Given the description of an element on the screen output the (x, y) to click on. 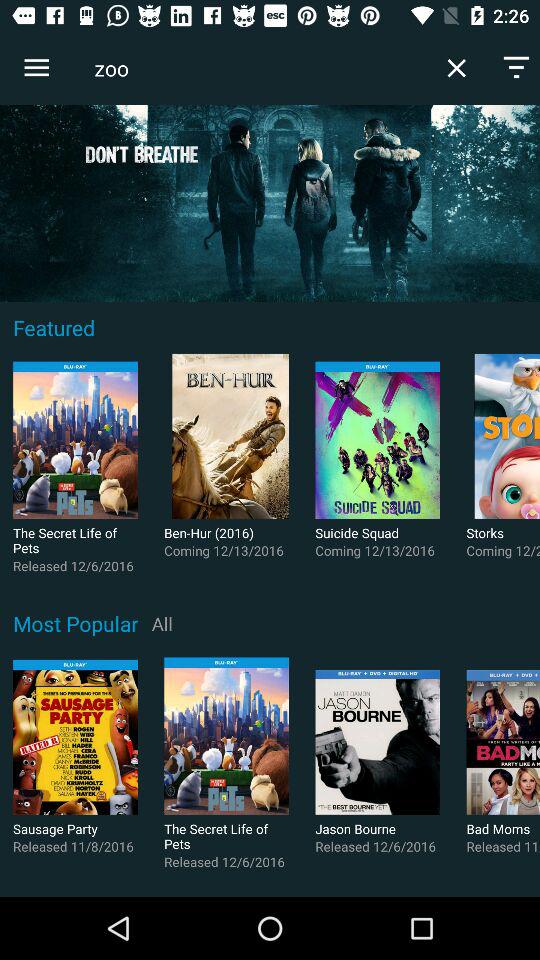
turn off the icon to the left of the zoo item (36, 68)
